Given the description of an element on the screen output the (x, y) to click on. 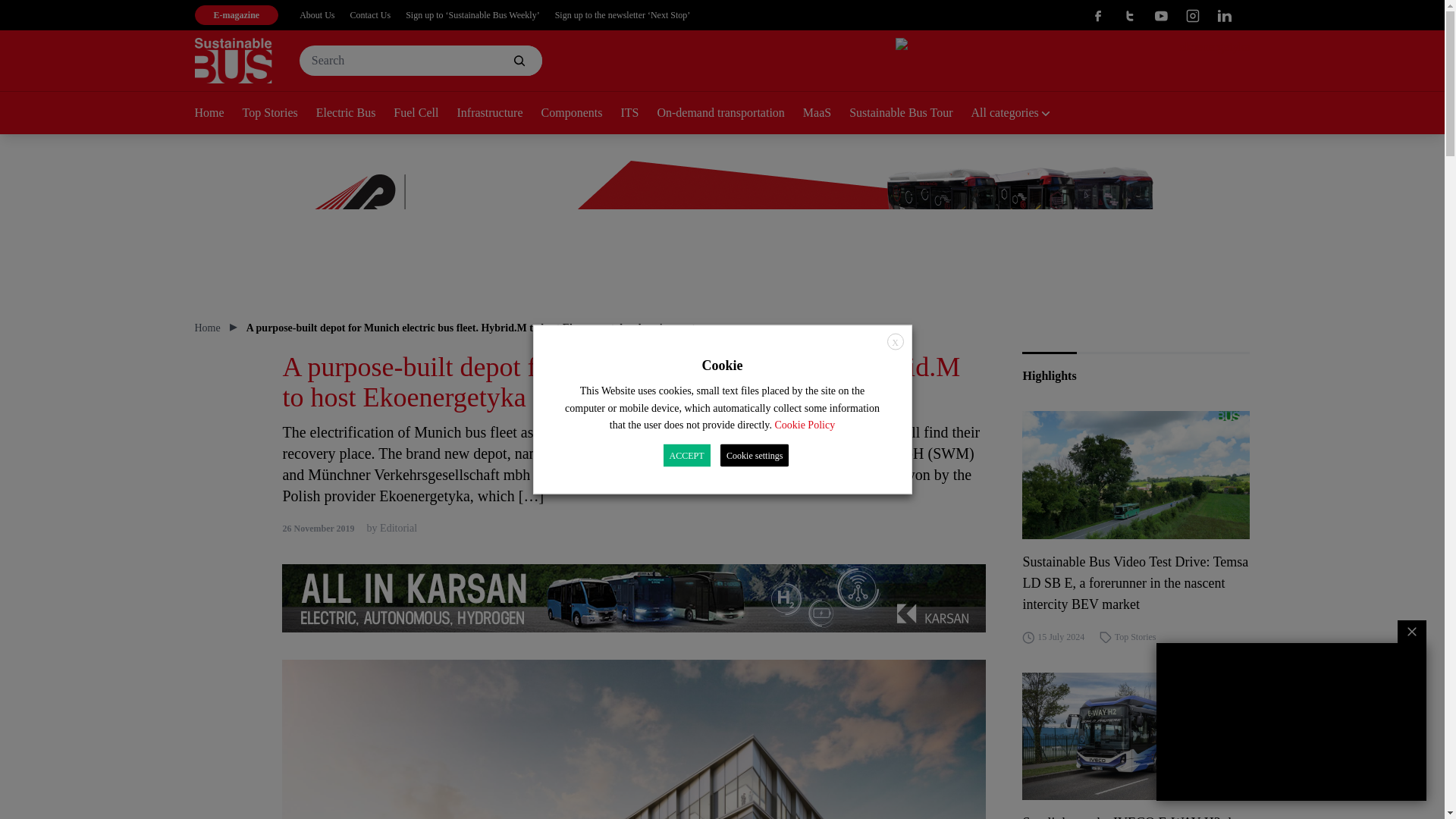
Fuel Cell (425, 113)
Infrastructure (498, 113)
About Us (316, 14)
YouTube video player (1291, 721)
Close and Accept (895, 341)
Sustainable Bus Tour (909, 113)
E-magazine (235, 14)
ITS (638, 113)
Sustainable Bus (231, 60)
MaaS (825, 113)
Home (217, 113)
Components (581, 113)
On-demand transportation (729, 113)
